Given the description of an element on the screen output the (x, y) to click on. 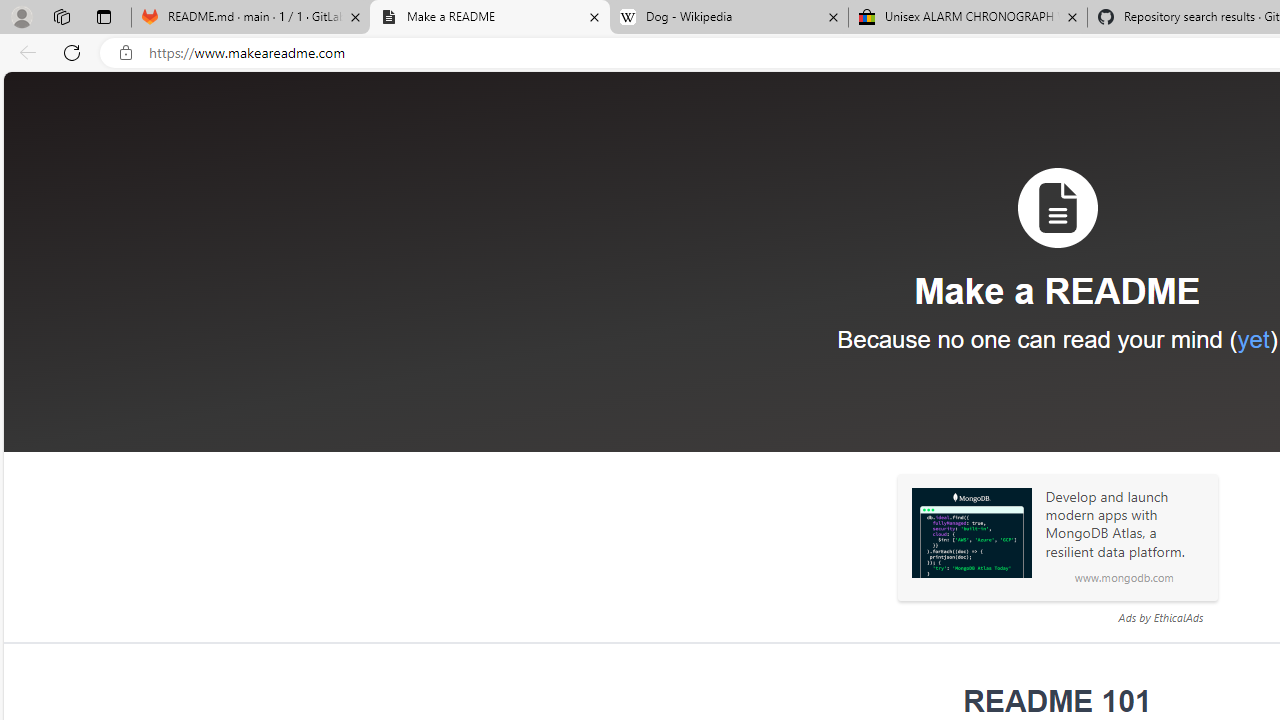
Anchor (950, 701)
